Given the description of an element on the screen output the (x, y) to click on. 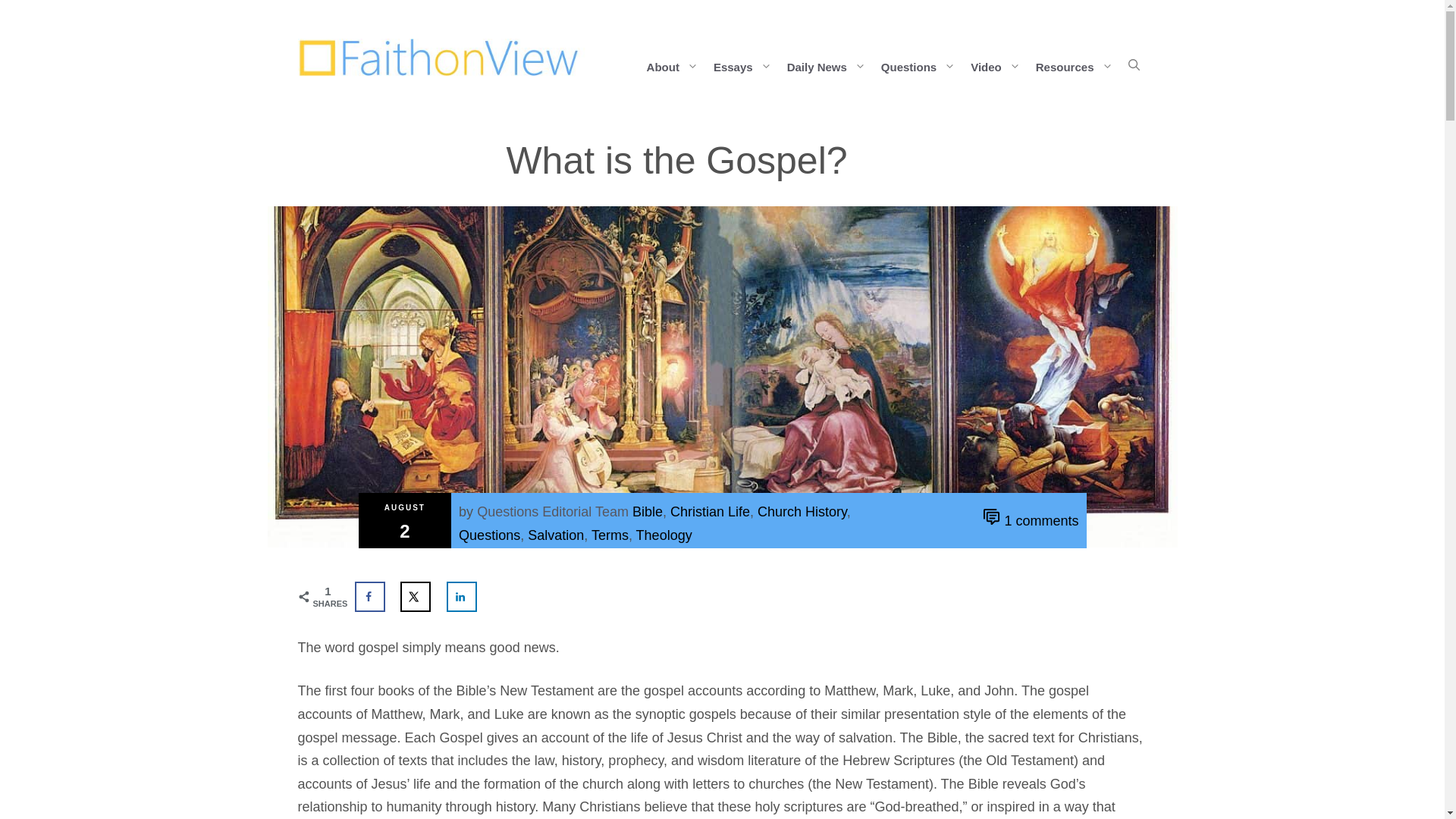
About (676, 65)
Essays (745, 65)
Daily News (830, 65)
Share on LinkedIn (461, 596)
Share on X (415, 596)
Questions Editorial Team (552, 511)
Share on Facebook (370, 596)
